Given the description of an element on the screen output the (x, y) to click on. 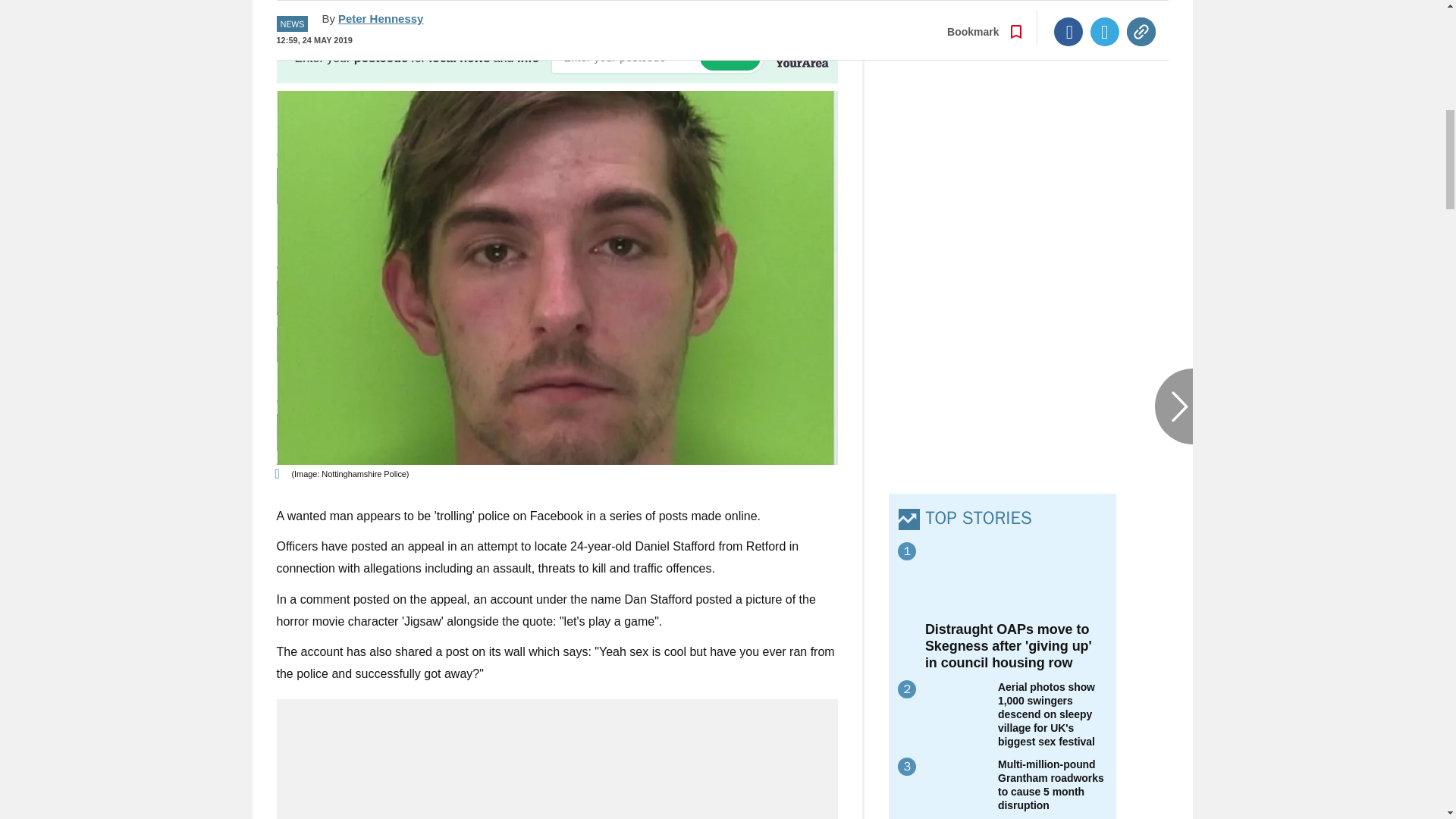
Go (730, 57)
